Given the description of an element on the screen output the (x, y) to click on. 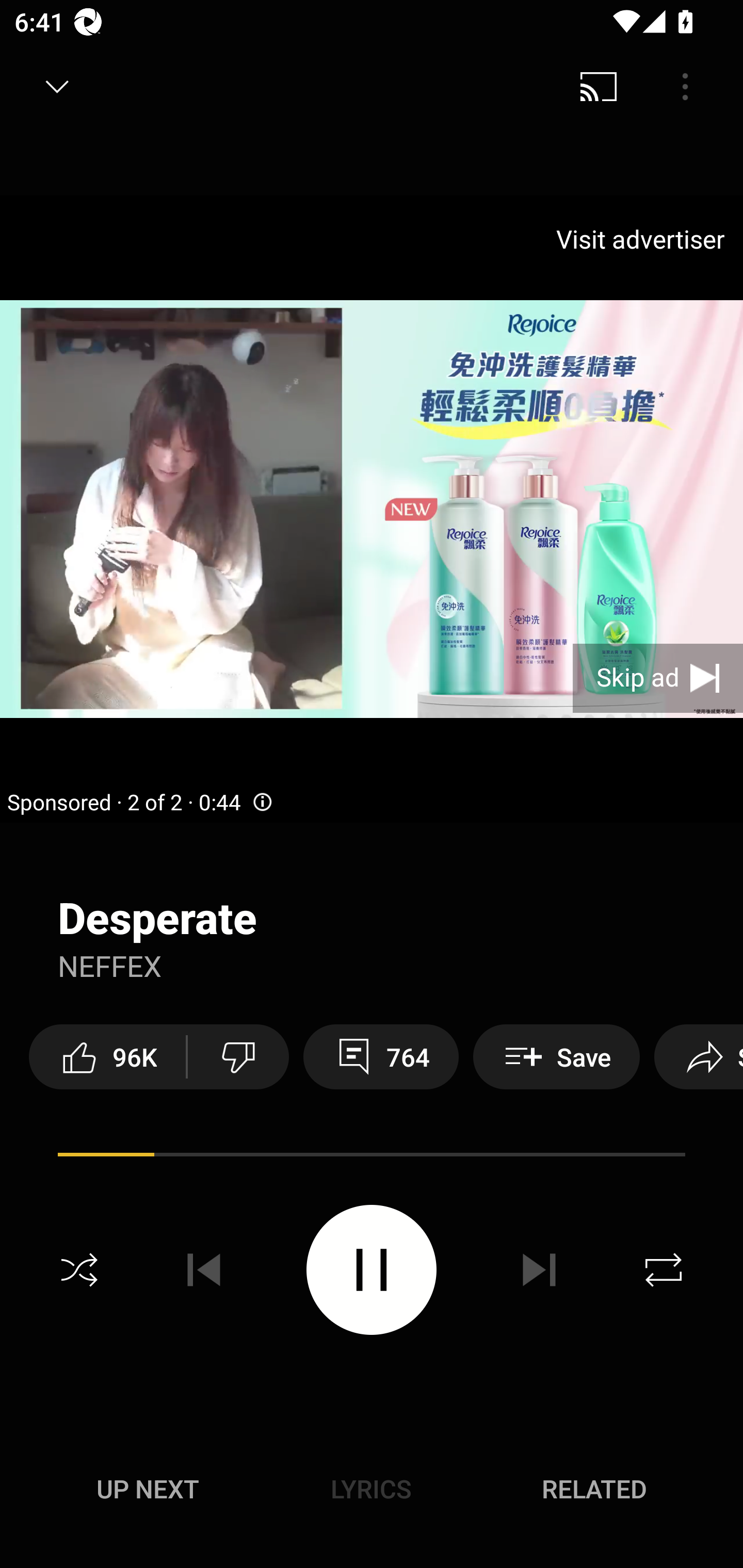
Minimize (57, 86)
Cast. Disconnected (598, 86)
Menu (684, 86)
Visit advertiser (644, 239)
Skip ad (657, 678)
Sponsored · 2 of 2 · 0:45 (140, 802)
96K like this video along with 96,234 other people (106, 1056)
Dislike (238, 1056)
764 View 764 comments (380, 1056)
Save Save to playlist (556, 1056)
Share (698, 1056)
Pause video (371, 1269)
Shuffle off (79, 1269)
Previous track disabled (203, 1269)
Next track disabled (538, 1269)
Repeat off (663, 1269)
Up next UP NEXT Lyrics LYRICS Related RELATED (371, 1491)
Lyrics LYRICS (370, 1488)
Related RELATED (594, 1488)
